Given the description of an element on the screen output the (x, y) to click on. 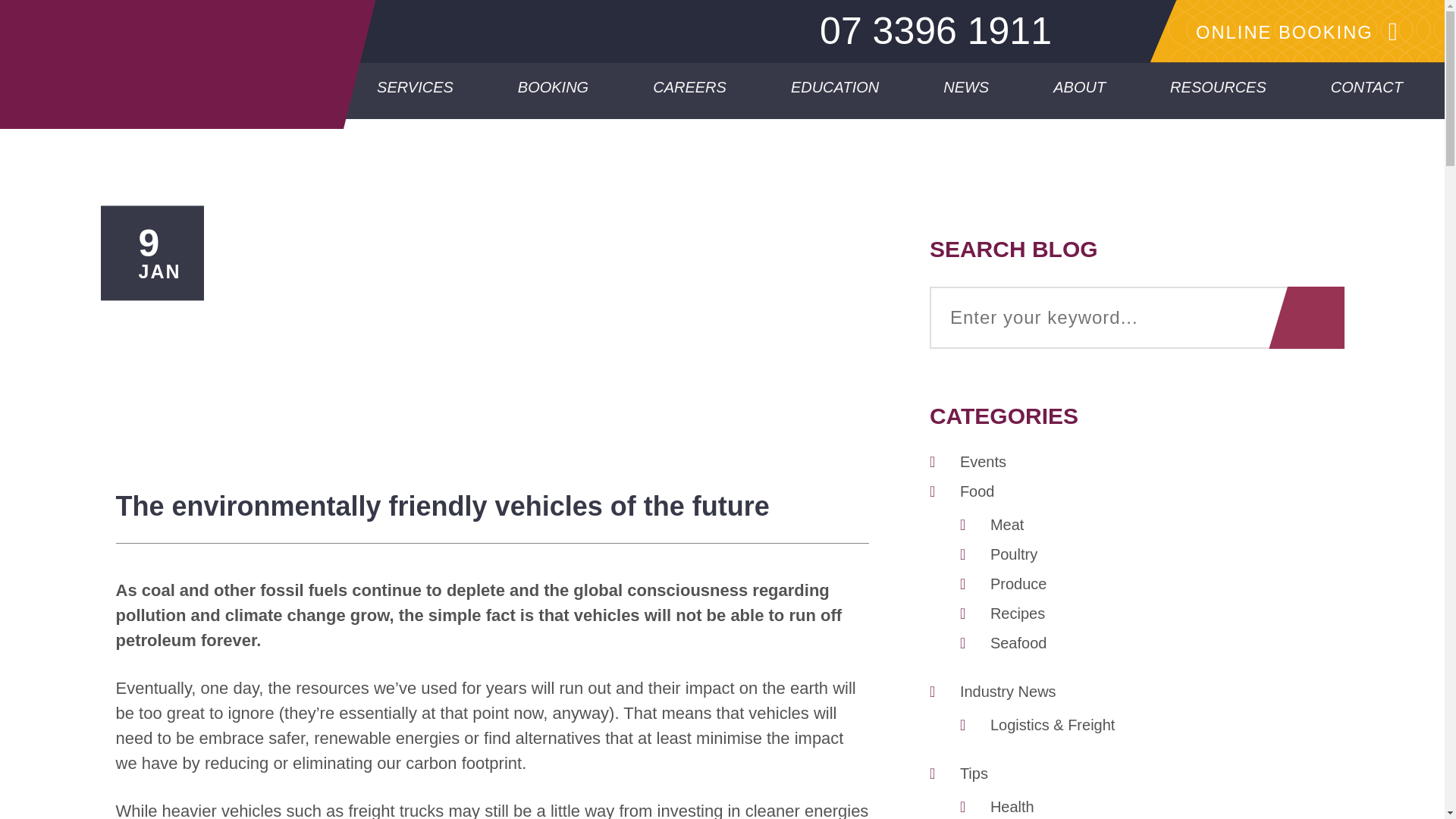
Meat (1006, 524)
CONTACT (1366, 89)
Health (1011, 806)
EDUCATION (833, 89)
CAREERS (690, 89)
Events (982, 461)
Recipes (1017, 613)
The environmentally friendly vehicles of the future (491, 518)
Seafood (1018, 642)
ABOUT (1079, 89)
